Given the description of an element on the screen output the (x, y) to click on. 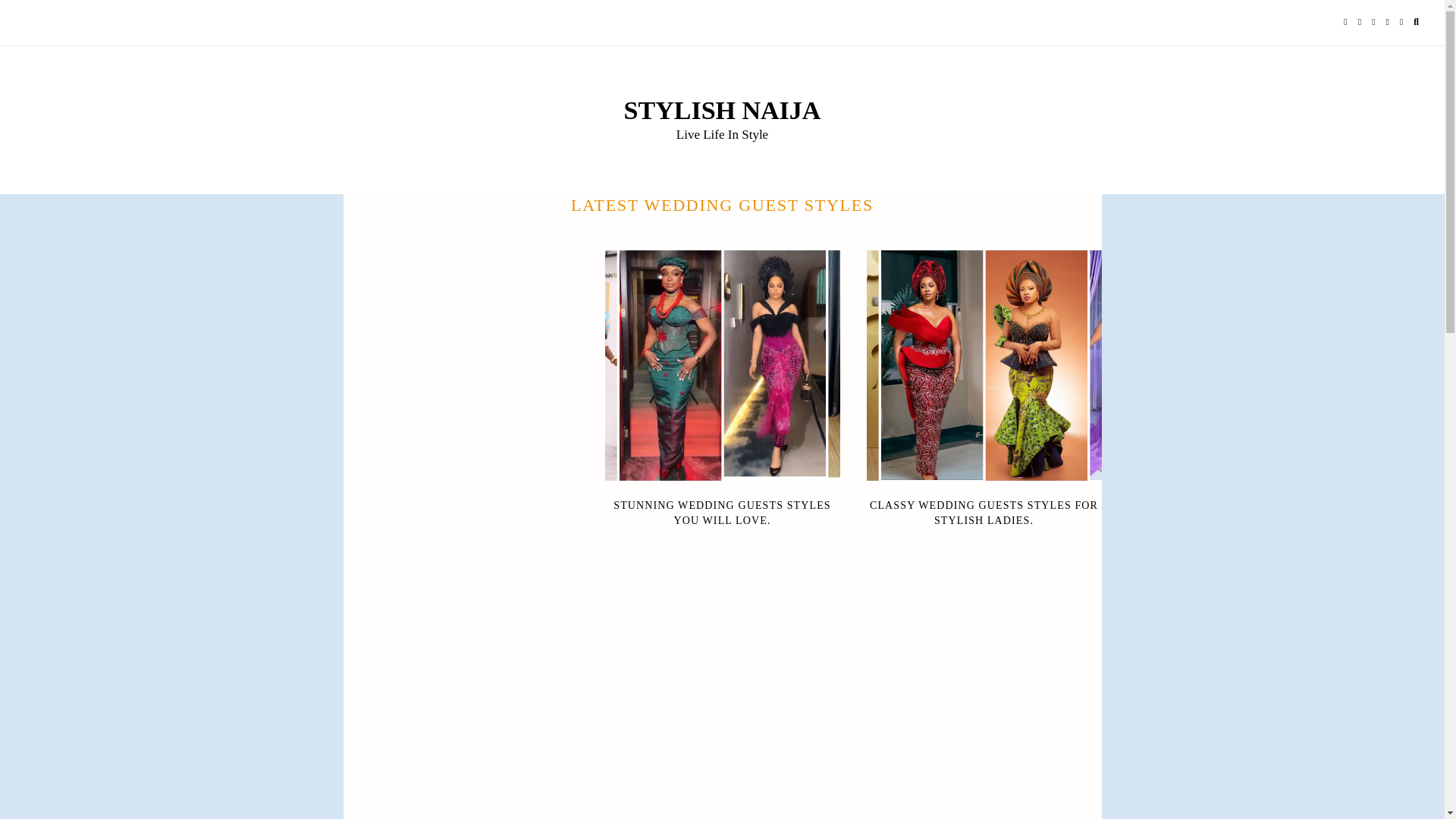
CATEGORIES (273, 22)
Stylish Naija (722, 110)
HOME (50, 22)
STYLISH NAIJA (722, 110)
CONTACT ME (186, 22)
ABOUT ME (109, 22)
